Given the description of an element on the screen output the (x, y) to click on. 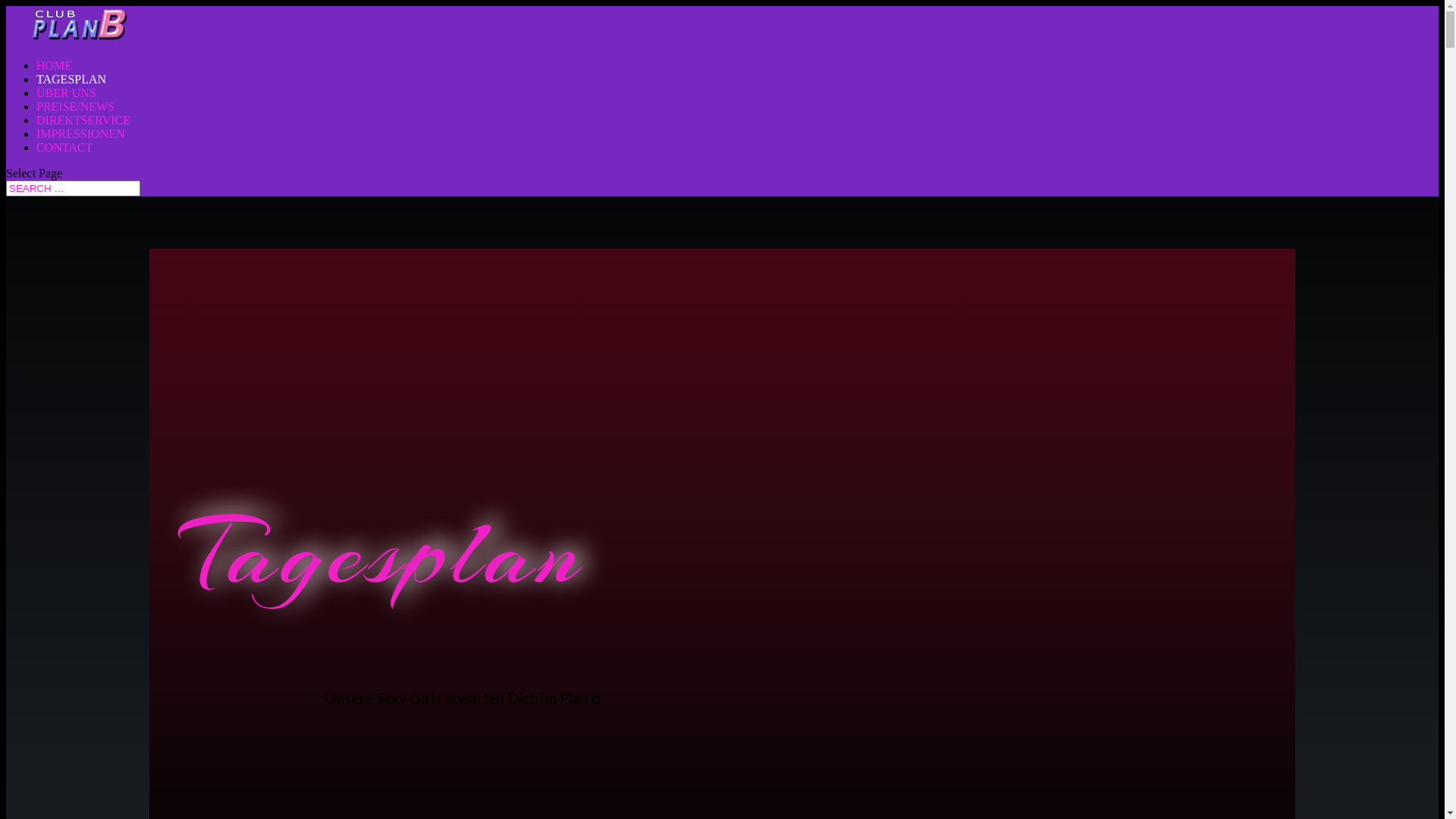
HOME Element type: text (54, 65)
DIREKTSERVICE Element type: text (83, 119)
TAGESPLAN Element type: text (71, 78)
CONTACT Element type: text (64, 147)
IMPRESSIONEN Element type: text (80, 133)
Search for: Element type: hover (73, 188)
PREISE/NEWS Element type: text (75, 106)
